Given the description of an element on the screen output the (x, y) to click on. 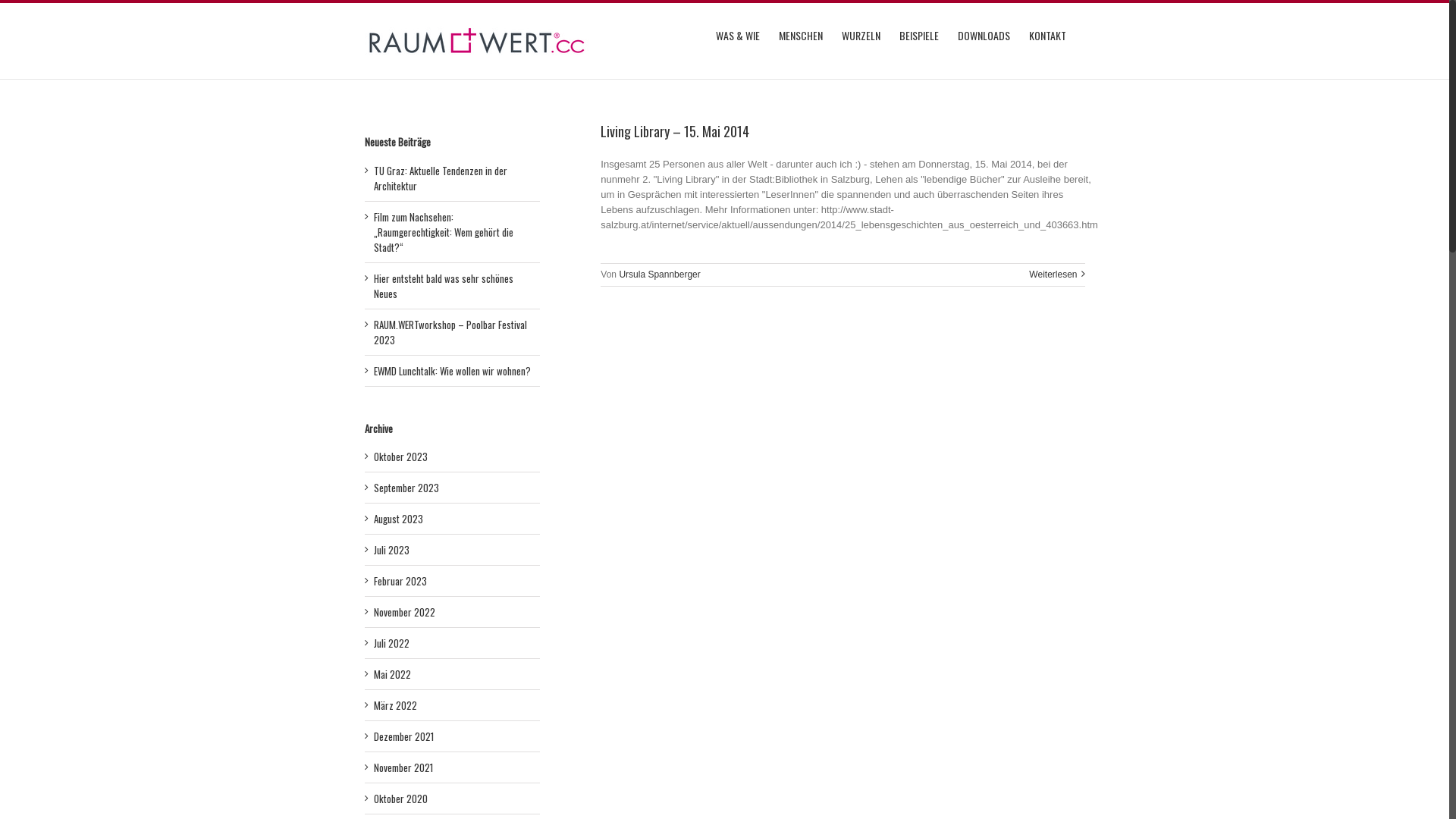
Juli 2023 Element type: text (390, 549)
WURZELN Element type: text (860, 34)
Ursula Spannberger Element type: text (658, 274)
Juli 2022 Element type: text (390, 642)
TU Graz: Aktuelle Tendenzen in der Architektur Element type: text (439, 178)
November 2022 Element type: text (403, 611)
Weiterlesen Element type: text (1052, 274)
EWMD Lunchtalk: Wie wollen wir wohnen? Element type: text (451, 370)
Februar 2023 Element type: text (399, 580)
Oktober 2023 Element type: text (399, 456)
Dezember 2021 Element type: text (403, 735)
MENSCHEN Element type: text (800, 34)
WAS & WIE Element type: text (737, 34)
September 2023 Element type: text (405, 487)
KONTAKT Element type: text (1046, 34)
BEISPIELE Element type: text (918, 34)
Oktober 2020 Element type: text (399, 798)
August 2023 Element type: text (397, 518)
November 2021 Element type: text (402, 767)
DOWNLOADS Element type: text (983, 34)
Mai 2022 Element type: text (391, 673)
